Given the description of an element on the screen output the (x, y) to click on. 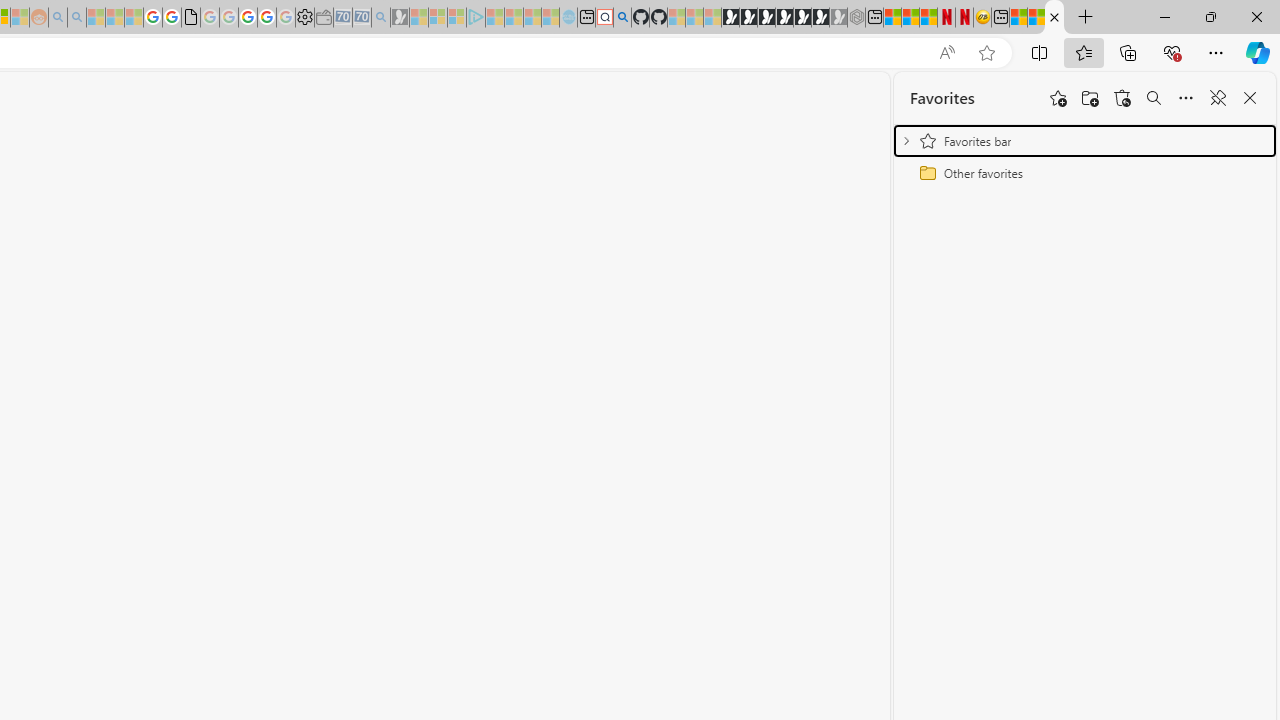
Add folder (1089, 98)
github - Search (622, 17)
Search favorites (1153, 98)
